Given the description of an element on the screen output the (x, y) to click on. 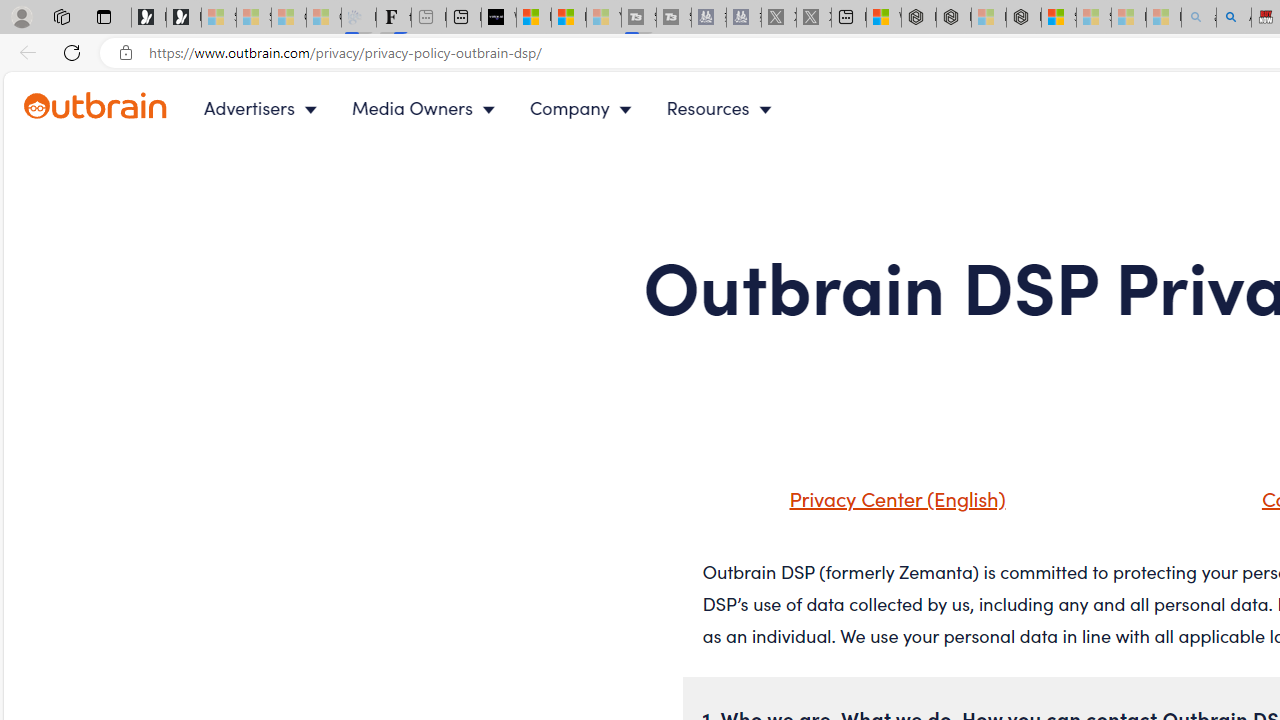
Outbrain logo - link to homepage (118, 107)
Skip navigation to go to main content (60, 83)
Advertisers (264, 107)
